Given the description of an element on the screen output the (x, y) to click on. 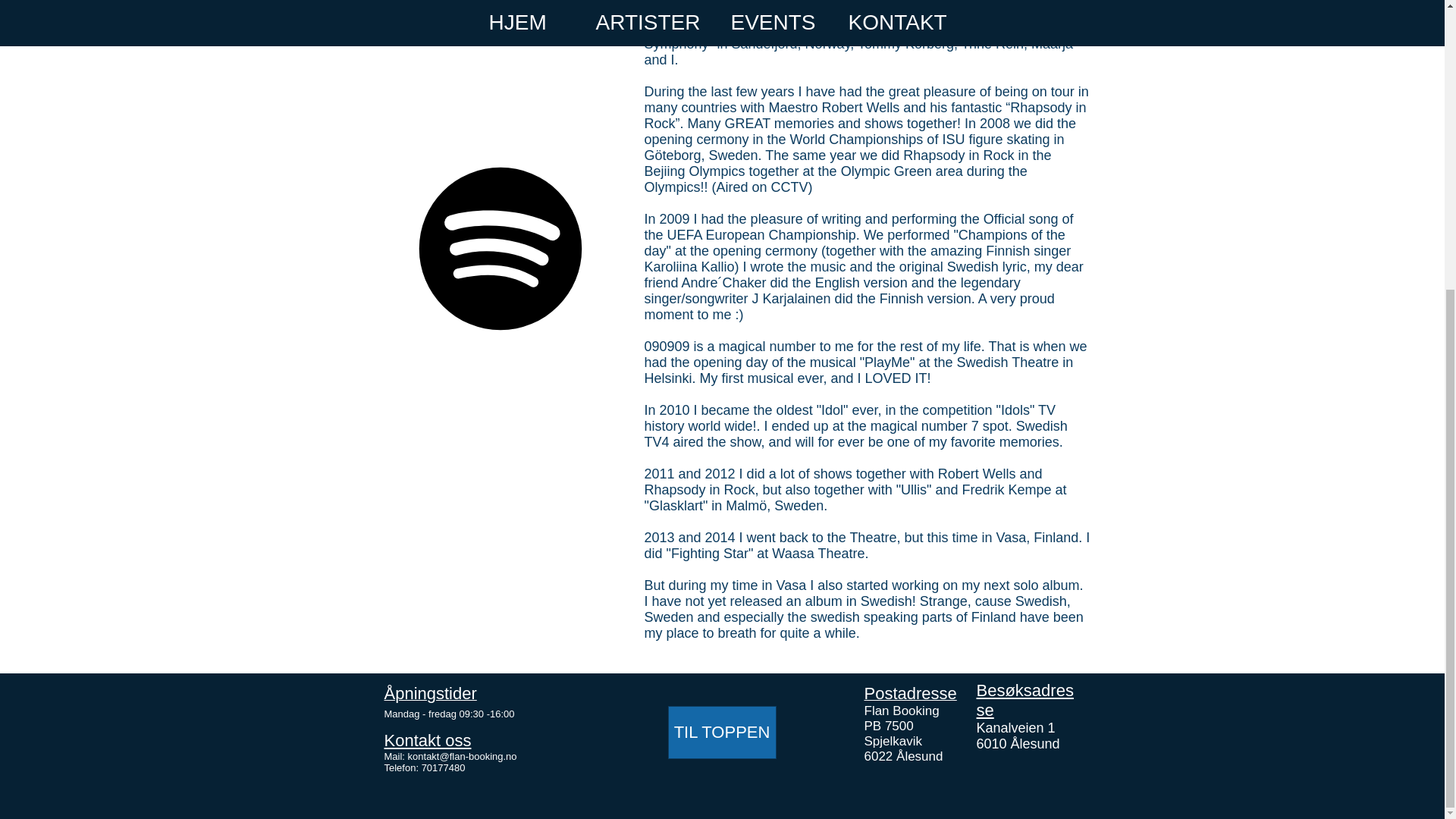
External YouTube (503, 66)
Spotify Player (499, 278)
TIL TOPPEN (721, 732)
Spotify Player (499, 279)
